Given the description of an element on the screen output the (x, y) to click on. 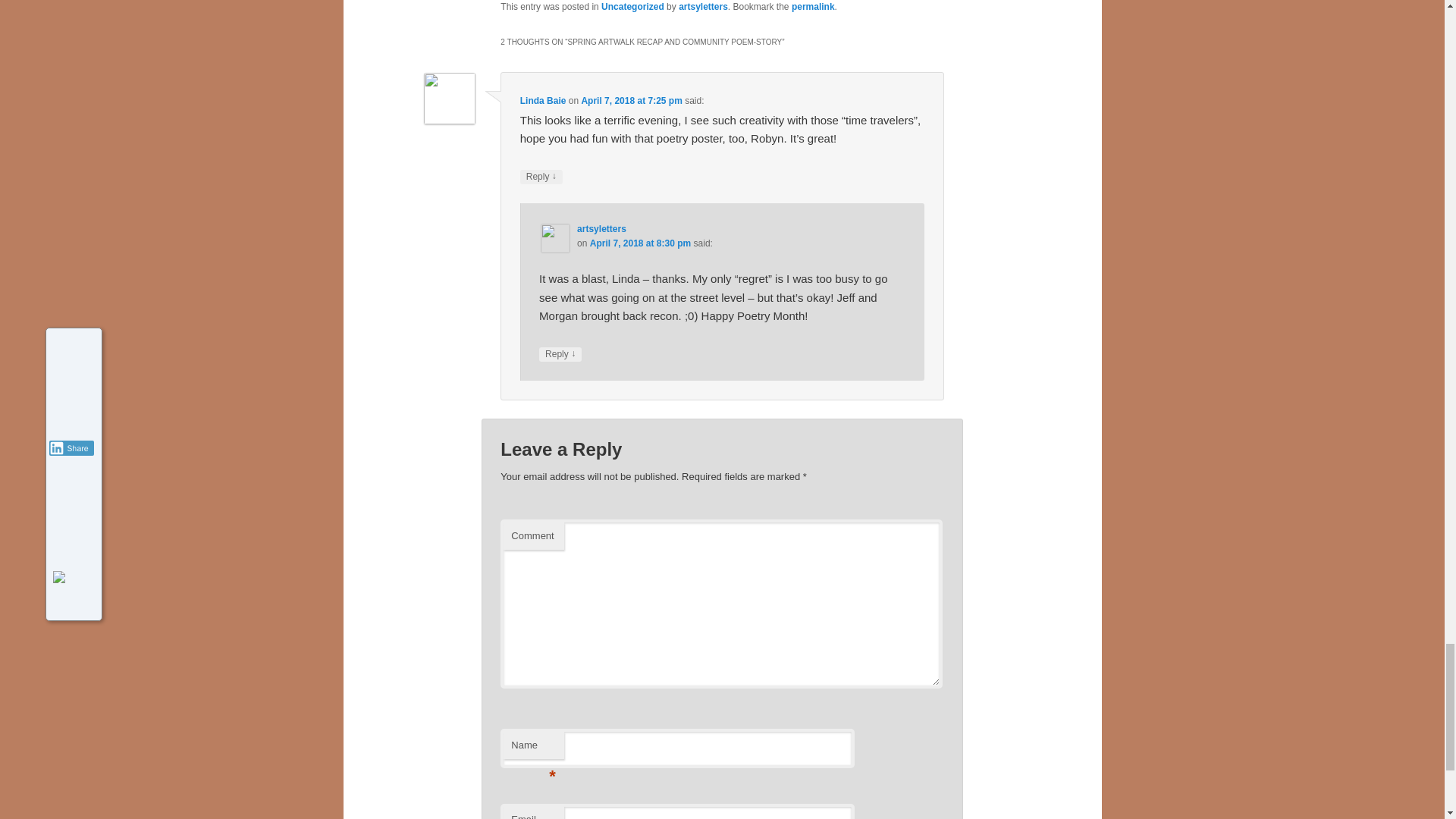
April 7, 2018 at 8:30 pm (639, 243)
artsyletters (703, 6)
artsyletters (601, 228)
Linda Baie (542, 100)
April 7, 2018 at 7:25 pm (630, 100)
permalink (813, 6)
Uncategorized (632, 6)
Permalink to Spring ArtWalk Recap and Community Poem-Story (813, 6)
